Given the description of an element on the screen output the (x, y) to click on. 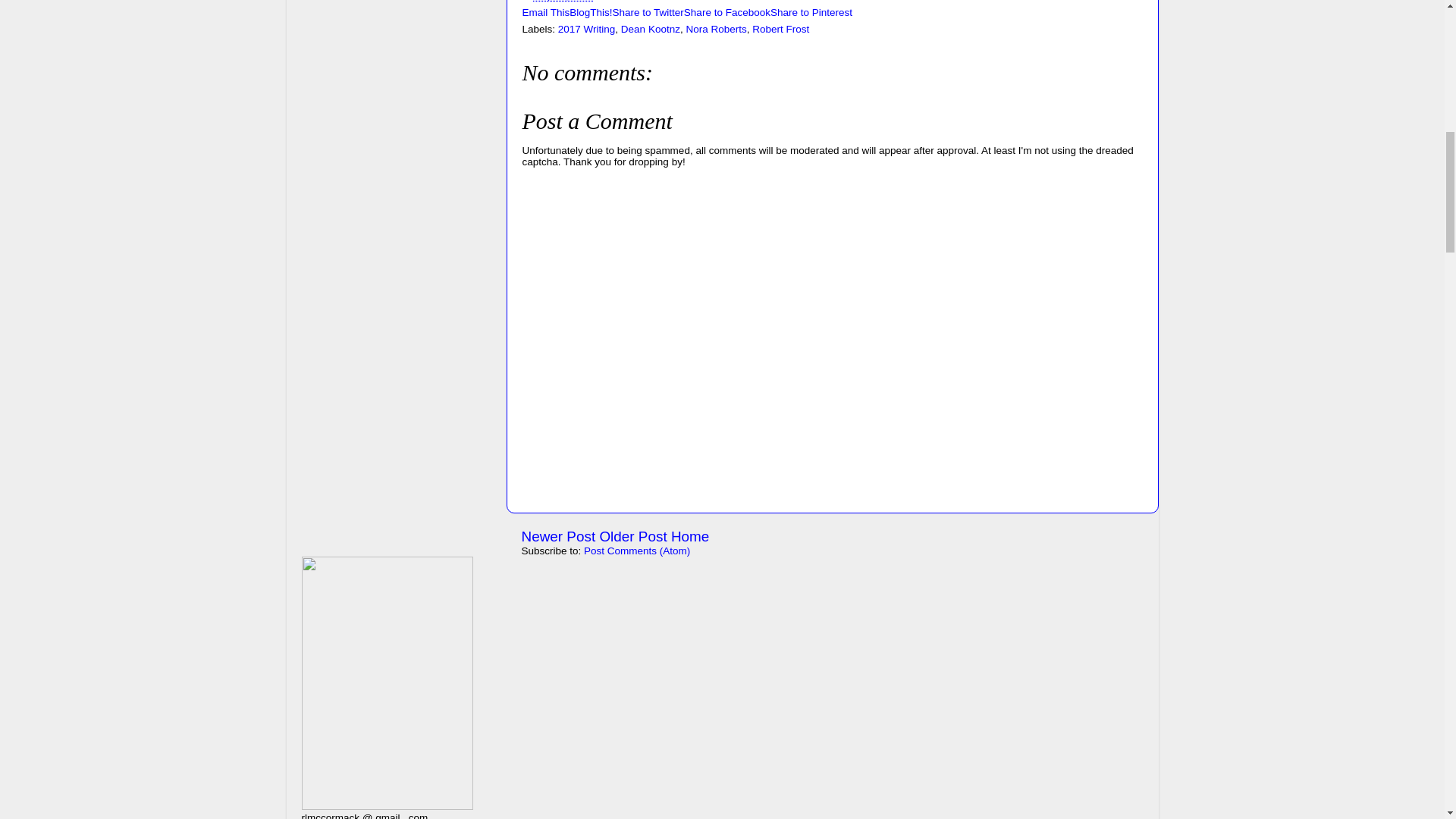
Share to Pinterest (810, 12)
BlogThis! (590, 12)
Newer Post (558, 536)
Home (690, 536)
Share to Pinterest (810, 12)
permanent link (564, 0)
Newer Post (558, 536)
Share to Twitter (648, 12)
July 03, 2017 (564, 0)
Older Post (632, 536)
2017 Writing (586, 29)
Dean Kootnz (650, 29)
Share to Facebook (727, 12)
Nora Roberts (715, 29)
